Given the description of an element on the screen output the (x, y) to click on. 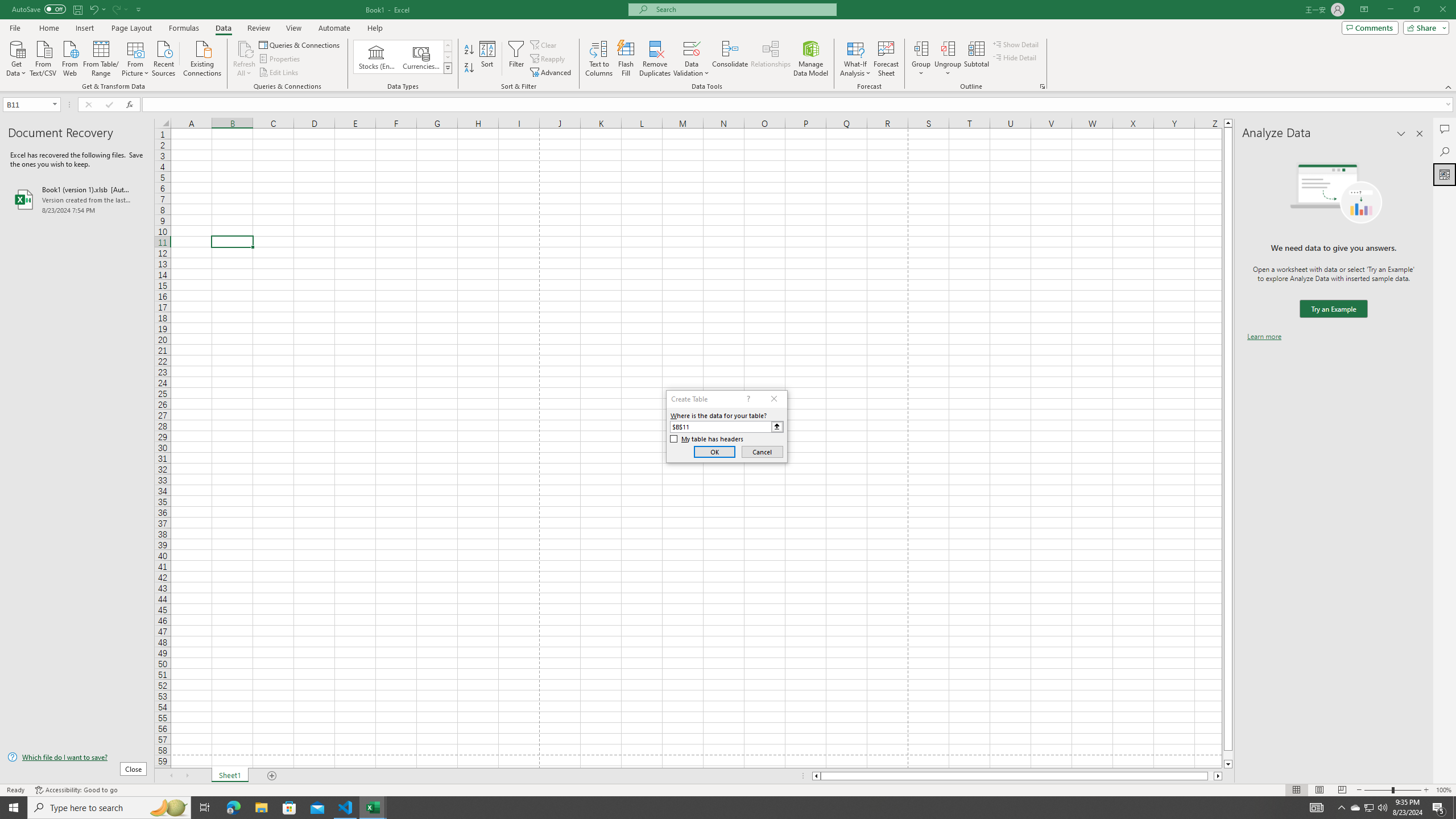
Text to Columns... (598, 58)
Relationships (770, 58)
Data Types (448, 67)
From Table/Range (100, 57)
Currencies (English) (420, 56)
